Given the description of an element on the screen output the (x, y) to click on. 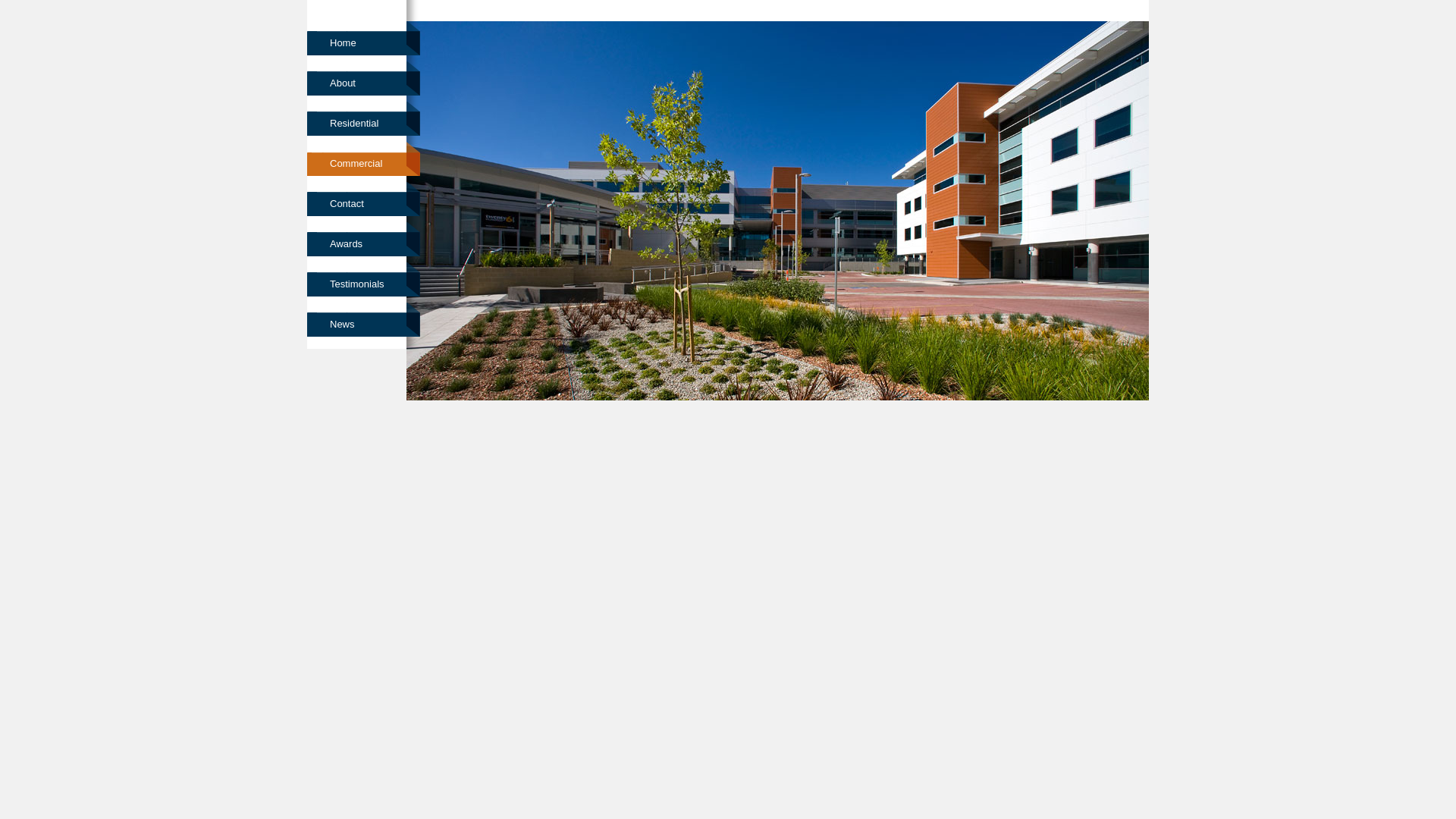
Testimonials Element type: text (365, 279)
Commercial Element type: text (365, 158)
About Element type: text (365, 78)
Contact Element type: text (365, 199)
News Element type: text (365, 319)
View our residential portfolio Element type: text (506, 31)
commercial-banner Element type: hover (777, 210)
Residential Element type: text (365, 118)
View our commercial portfolio Element type: text (694, 31)
Awards Element type: text (365, 239)
Design by Ideas & Directions 2011 Element type: text (1045, 312)
Home Element type: text (365, 38)
